Given the description of an element on the screen output the (x, y) to click on. 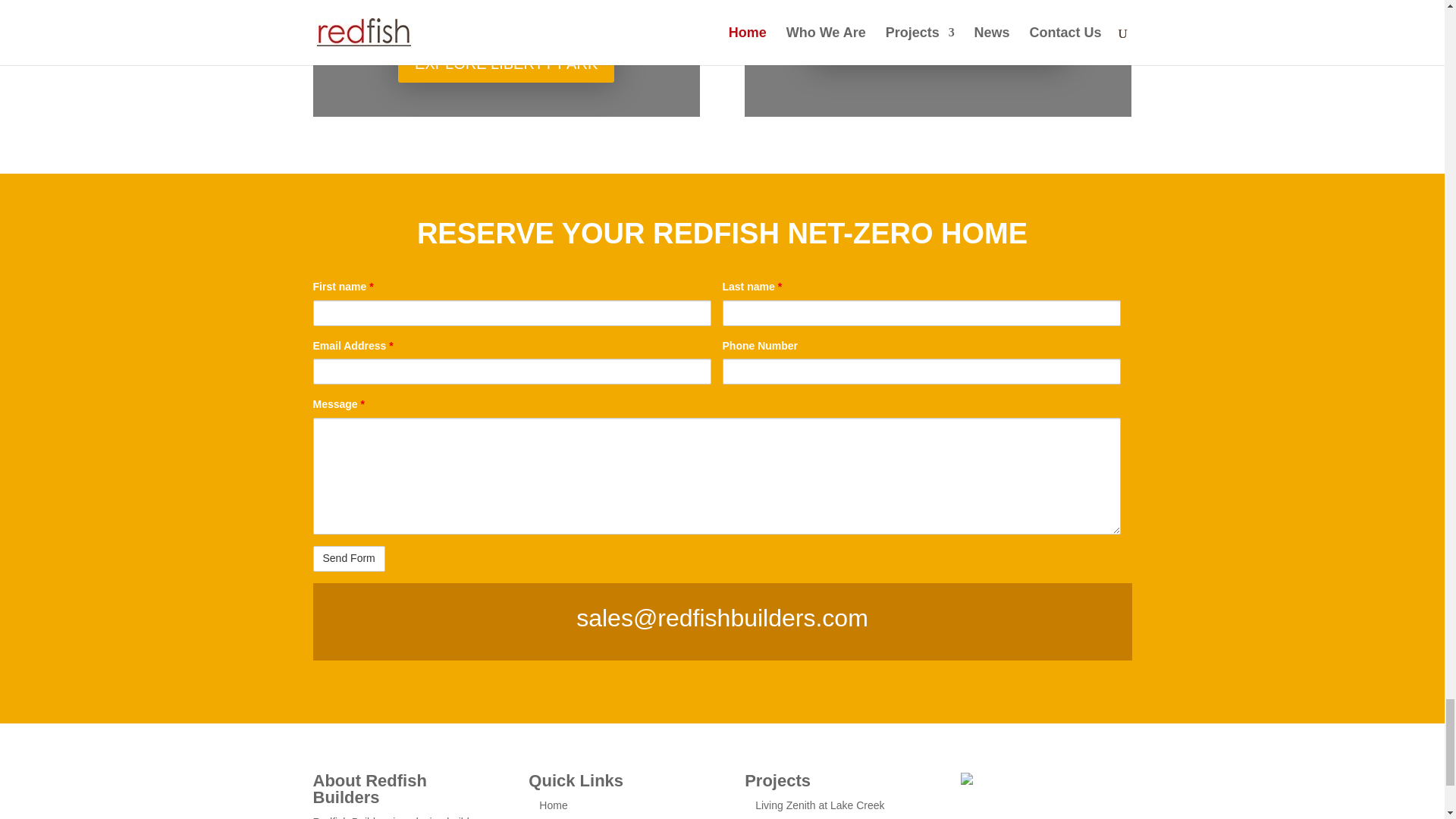
Send Form (348, 558)
EXPLORE LIBERTY PARK (505, 63)
Home (552, 805)
Send Form (348, 558)
EXPLORE ARLINGTON COURT (937, 45)
